Given the description of an element on the screen output the (x, y) to click on. 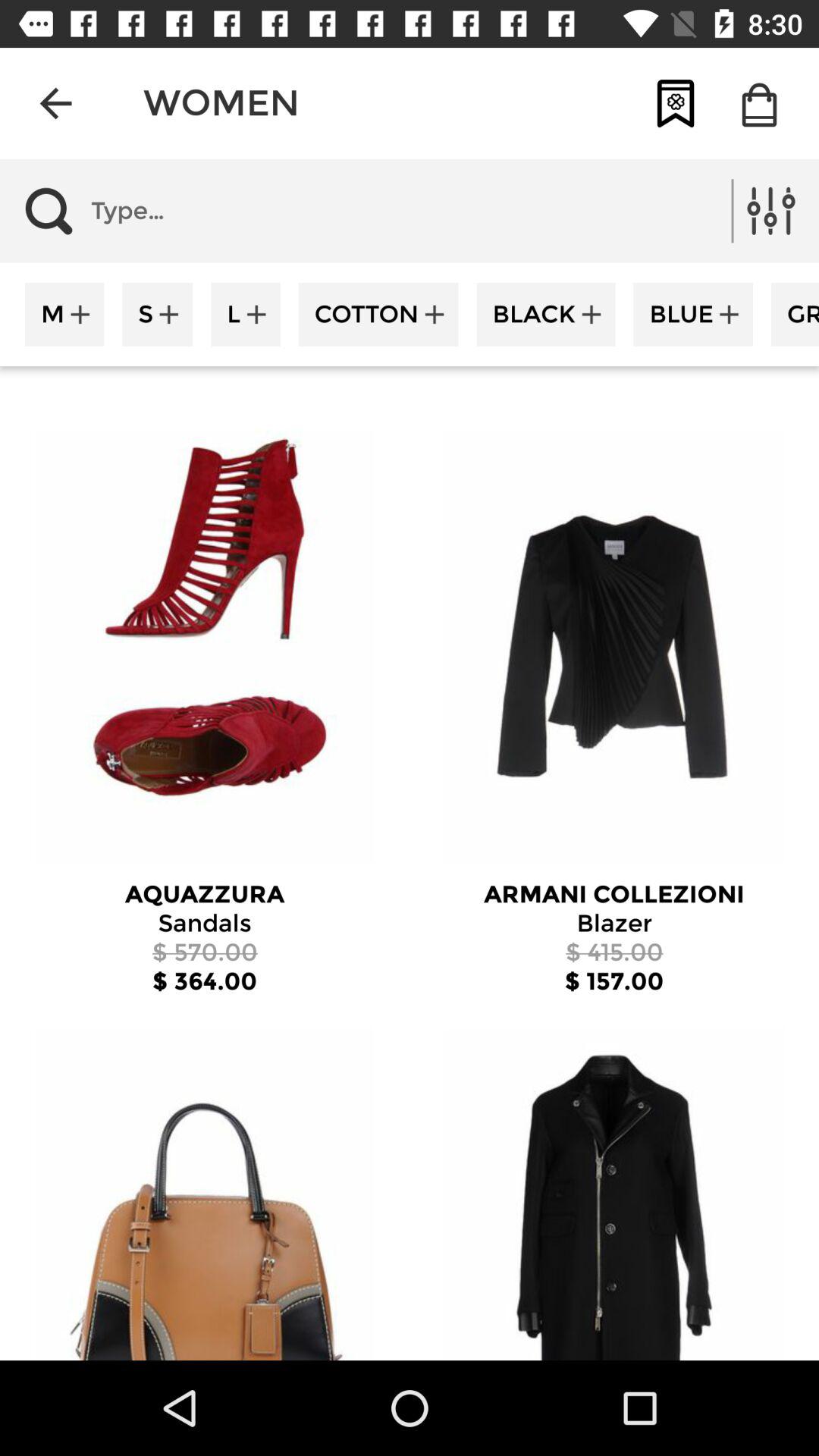
turn off the item to the right of the black (693, 314)
